Given the description of an element on the screen output the (x, y) to click on. 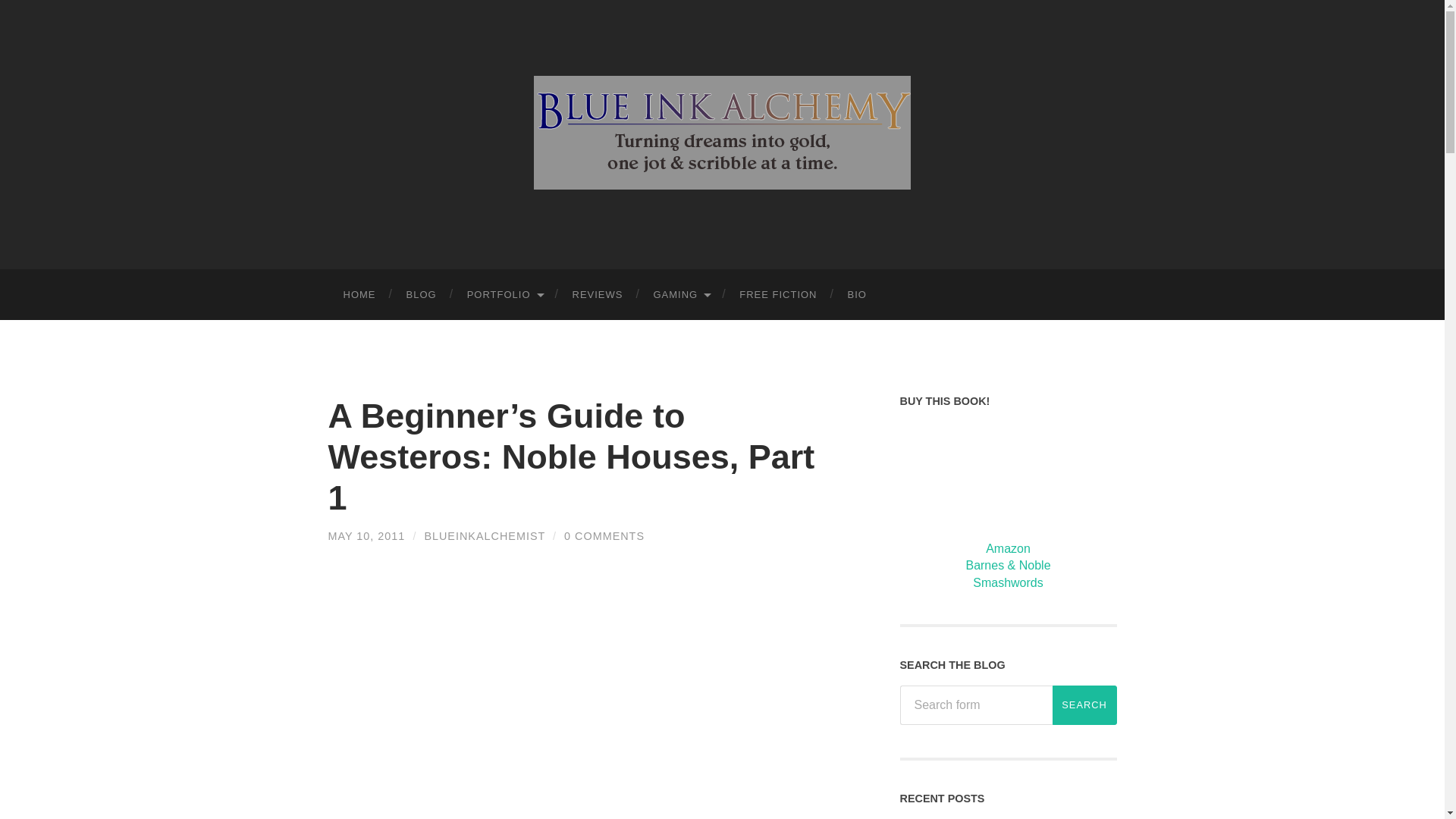
BIO (857, 294)
GAMING (680, 294)
BLUEINKALCHEMIST (483, 535)
PORTFOLIO (504, 294)
HOME (358, 294)
REVIEWS (598, 294)
0 COMMENTS (604, 535)
Posts by BlueInkAlchemist (483, 535)
MAY 10, 2011 (365, 535)
Search (1084, 704)
